Given the description of an element on the screen output the (x, y) to click on. 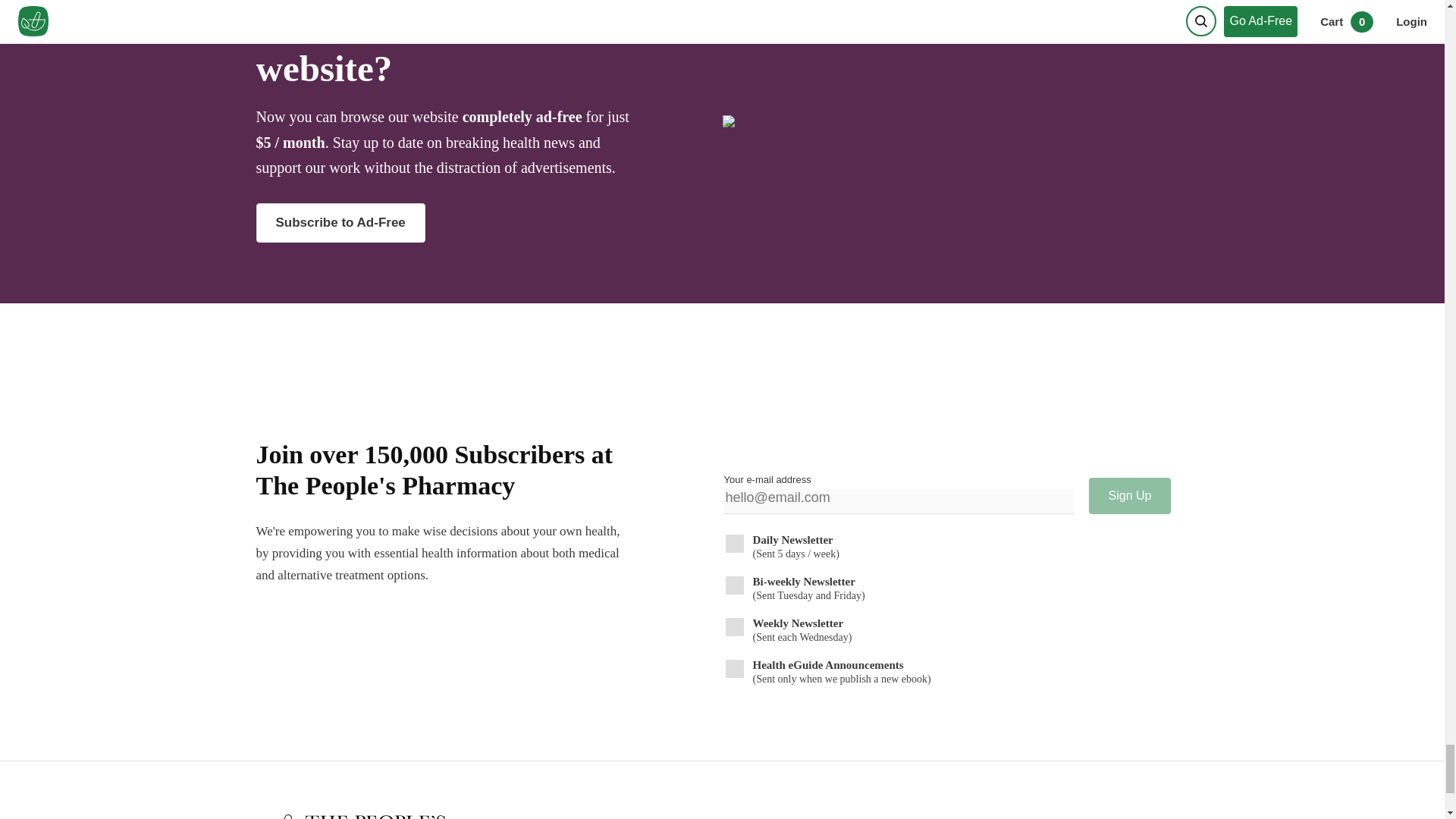
Subscribe to Ad-Free (481, 222)
Sign Up (1130, 495)
Subscribe to Ad-Free (340, 222)
